Given the description of an element on the screen output the (x, y) to click on. 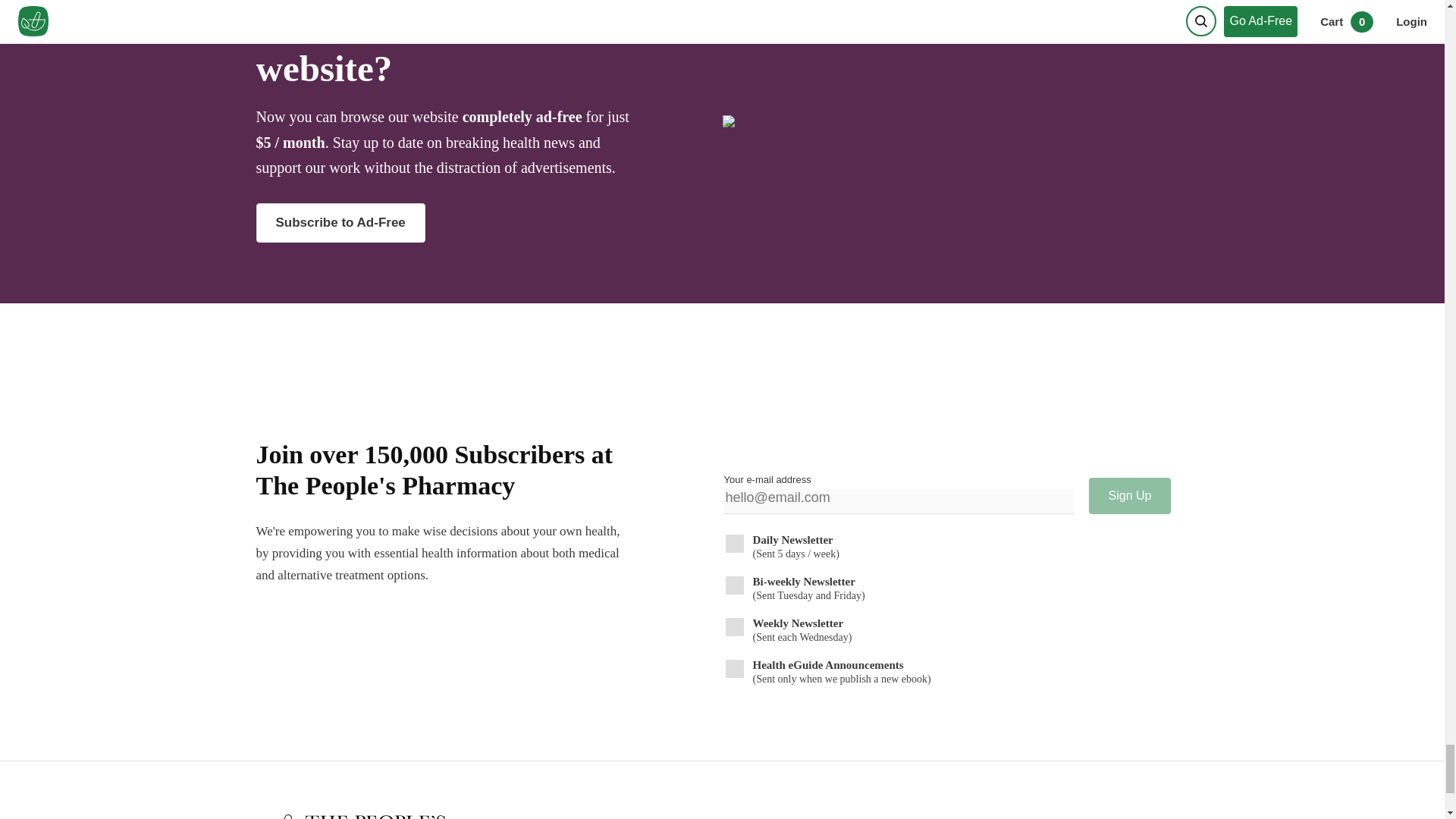
Subscribe to Ad-Free (481, 222)
Sign Up (1130, 495)
Subscribe to Ad-Free (340, 222)
